Given the description of an element on the screen output the (x, y) to click on. 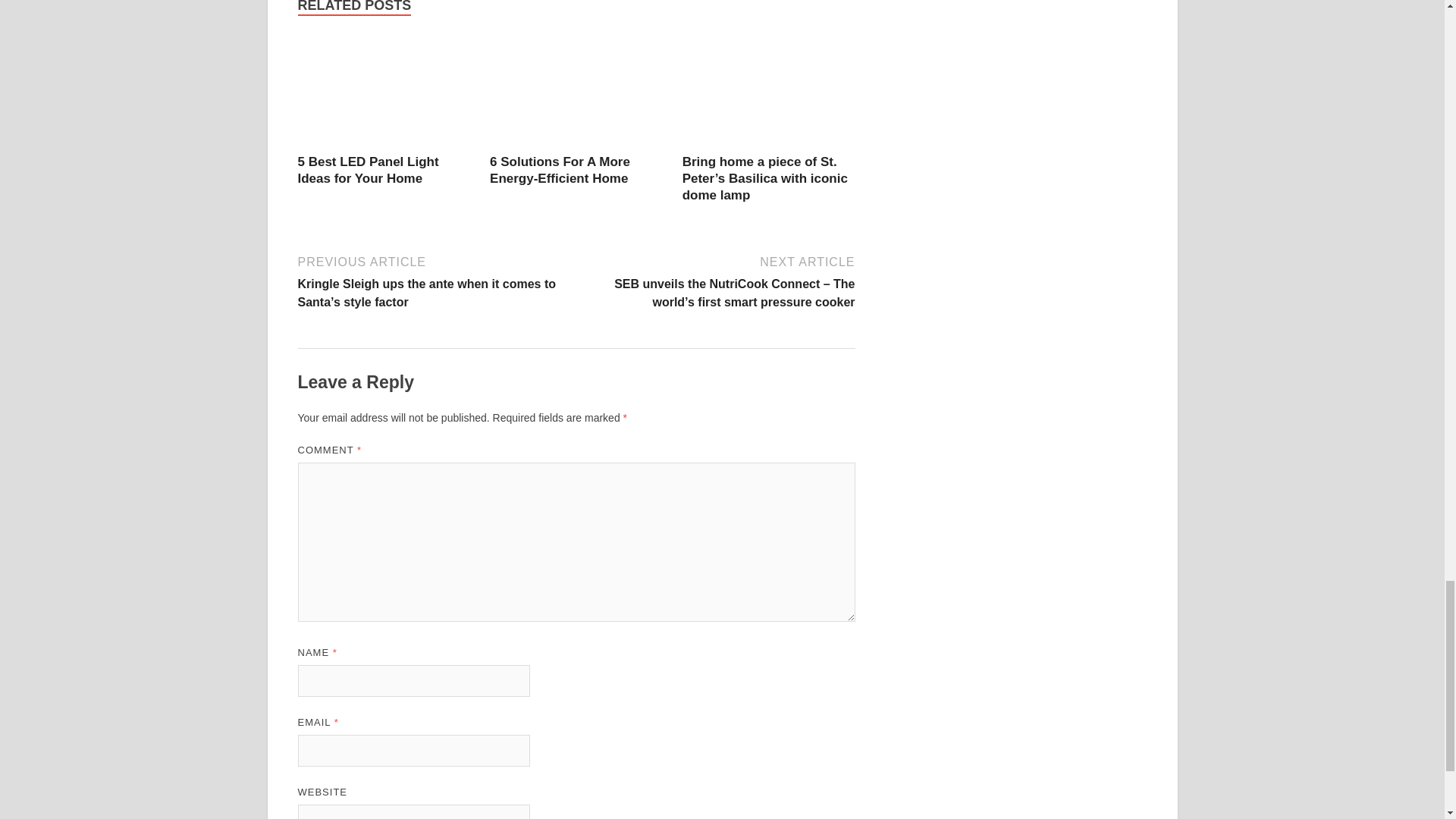
5 Best LED Panel Light Ideas for Your Home (383, 92)
5 Best LED Panel Light Ideas for Your Home (367, 169)
6 Solutions For A More Energy-Efficient Home (575, 92)
6 Solutions For A More Energy-Efficient Home (559, 169)
